Given the description of an element on the screen output the (x, y) to click on. 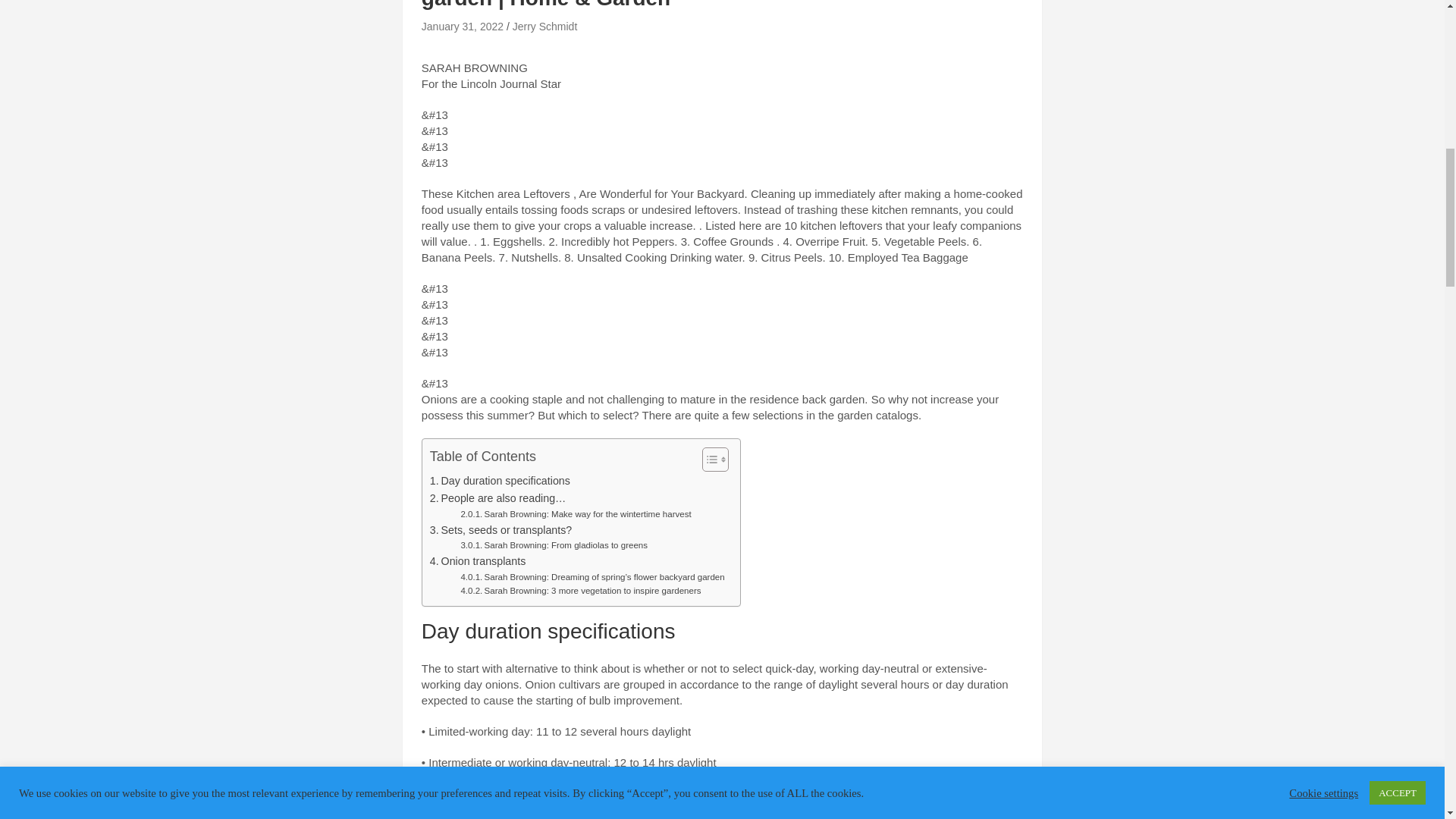
Sets, seeds or transplants? (500, 529)
Day duration specifications (499, 480)
Day duration specifications (499, 480)
Sets, seeds or transplants? (500, 529)
Onion transplants  (478, 561)
Sarah Browning: 3 more vegetation to inspire gardeners (580, 590)
Jerry Schmidt (545, 26)
January 31, 2022 (462, 26)
Sarah Browning: 3 more vegetation to inspire gardeners (580, 590)
Sarah Browning: Make way for the wintertime harvest (575, 513)
Sarah Browning: Make way for the wintertime harvest (575, 513)
Sarah Browning: From gladiolas to greens (553, 545)
Sarah Browning: From gladiolas to greens (553, 545)
